Given the description of an element on the screen output the (x, y) to click on. 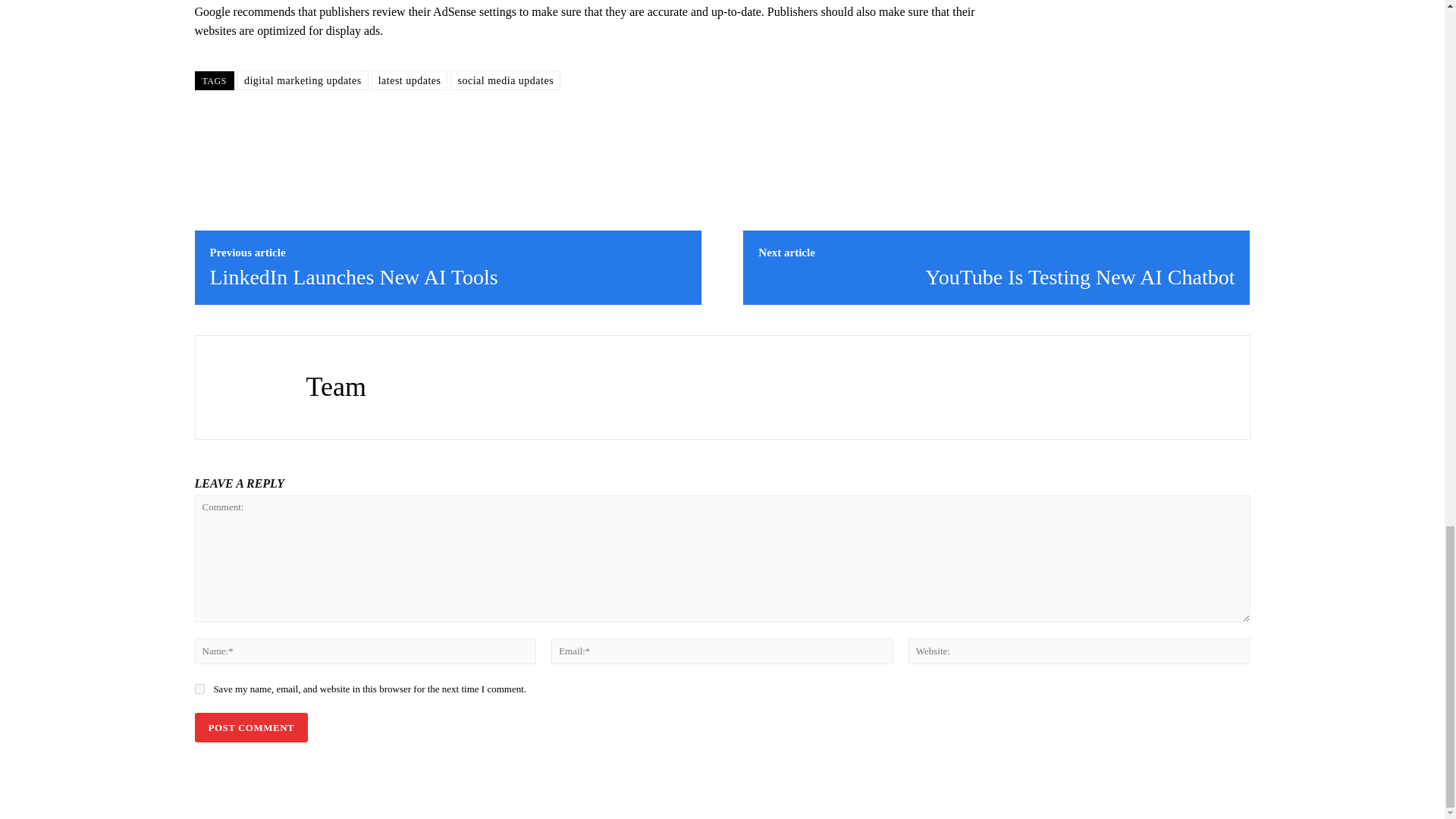
yes (198, 688)
latest updates (409, 80)
digital marketing updates (302, 80)
Post Comment (250, 727)
social media updates (504, 80)
